Given the description of an element on the screen output the (x, y) to click on. 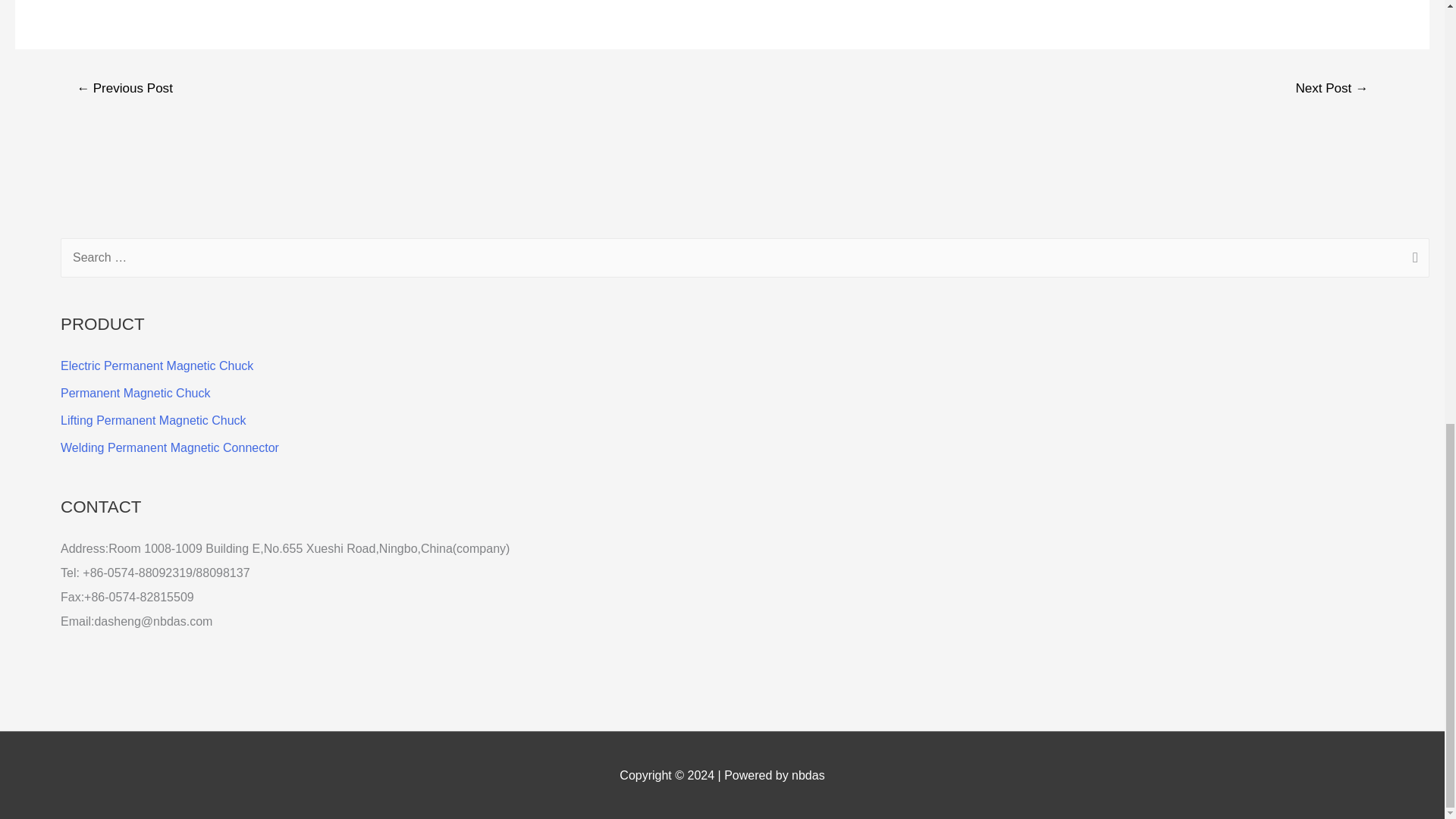
Permanent Magnetic Chuck (135, 392)
Lifting Permanent Magnetic Chuck (153, 420)
Welding Permanent Magnetic Connector (170, 447)
Electric Permanent Magnetic Chuck (157, 365)
